Given the description of an element on the screen output the (x, y) to click on. 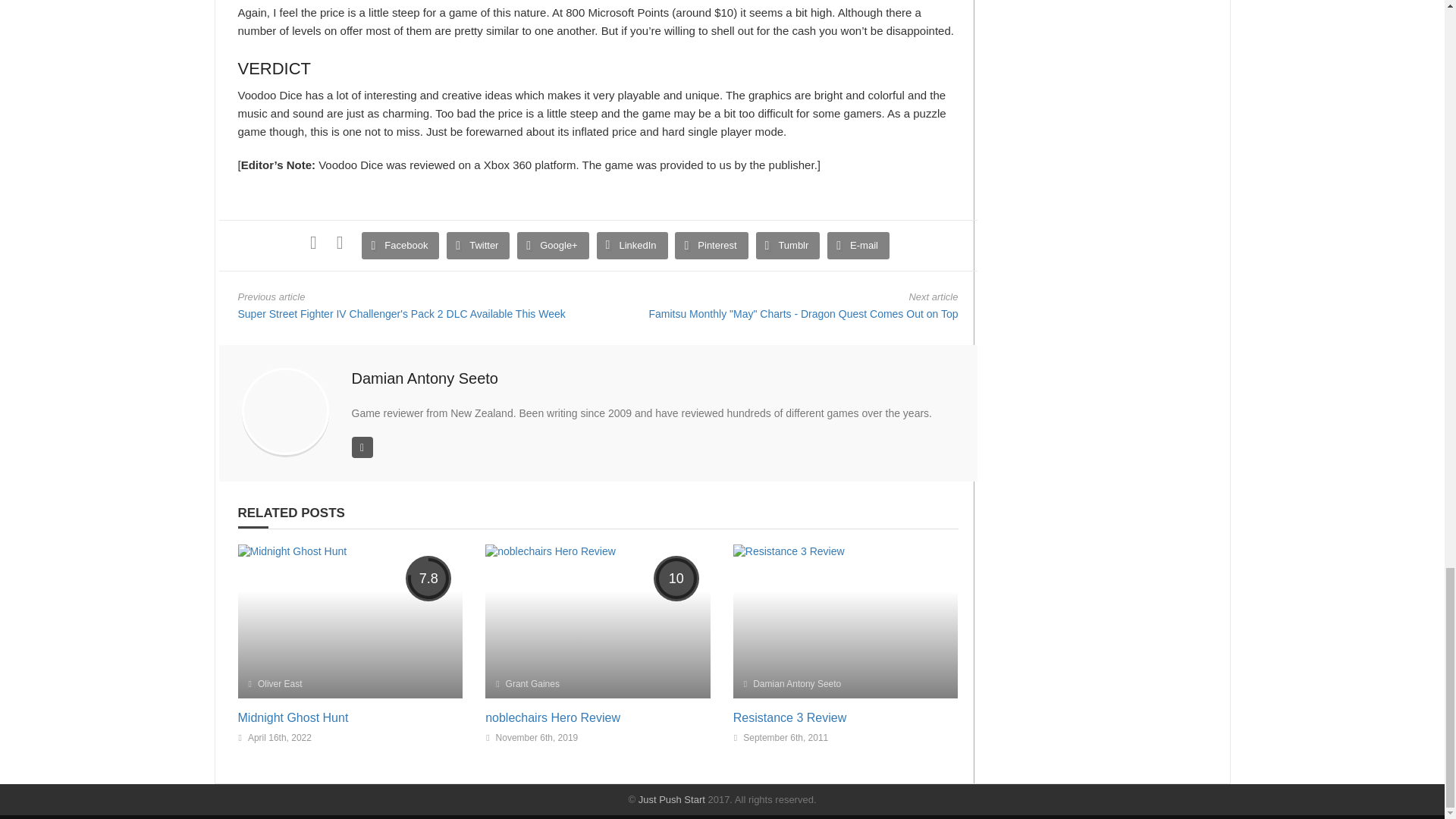
Famitsu Monthly "May" Charts - Dragon Quest Comes Out on Top (802, 313)
Posts by Damian Antony Seeto (424, 378)
